Given the description of an element on the screen output the (x, y) to click on. 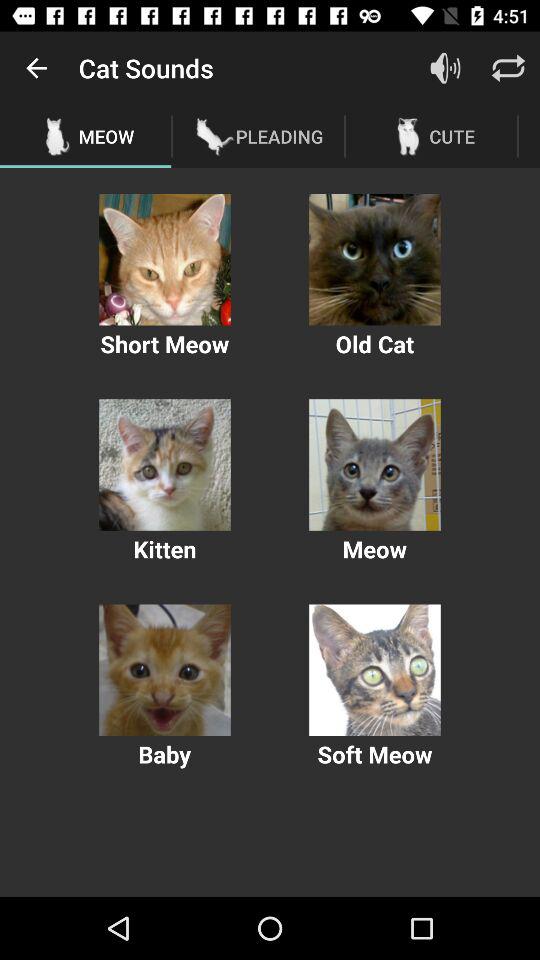
click on the image above short meow (164, 259)
